Given the description of an element on the screen output the (x, y) to click on. 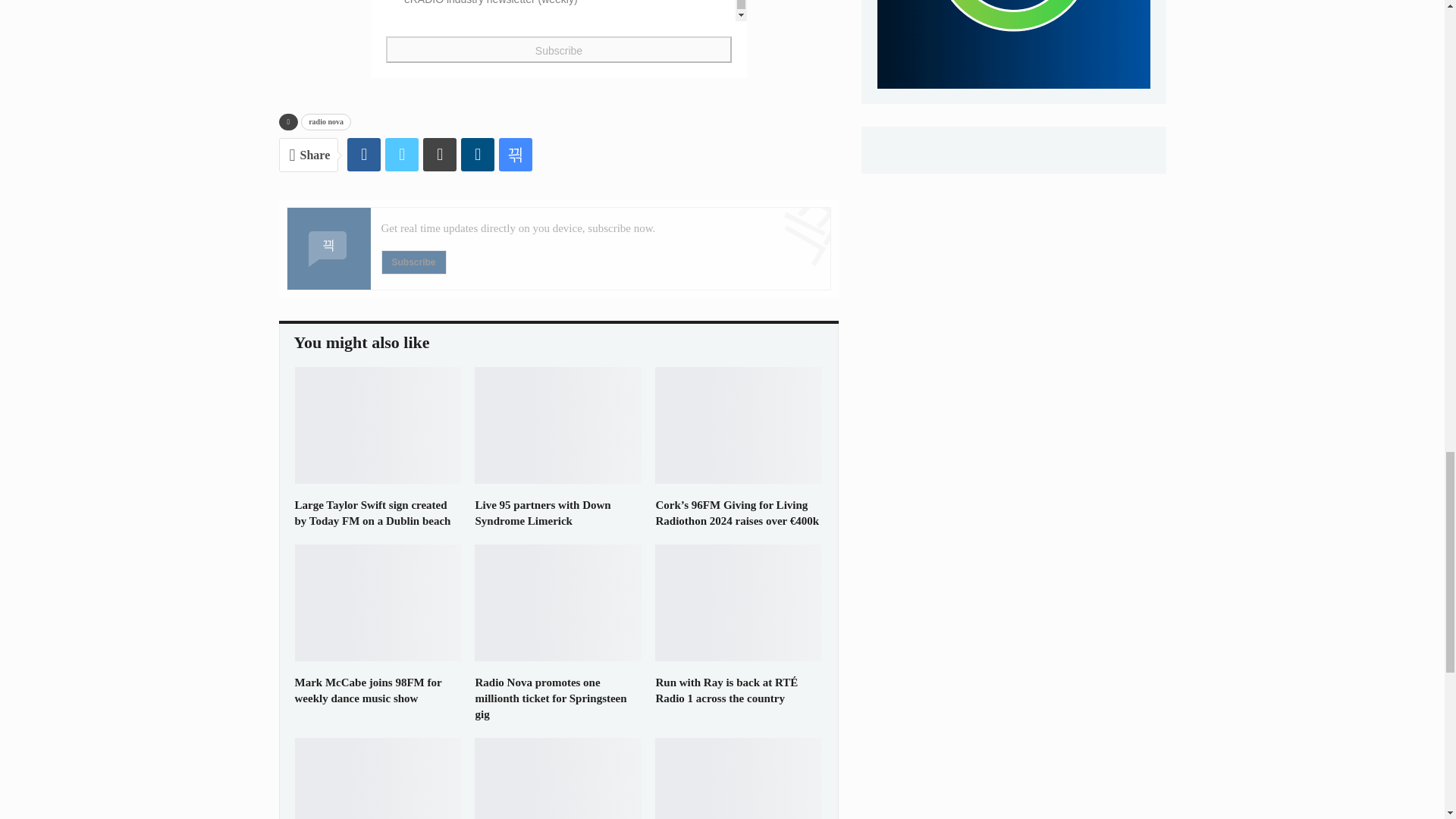
Mark McCabe joins 98FM for weekly dance music show (367, 690)
Live 95 partners with Down Syndrome Limerick (542, 512)
Mark McCabe joins 98FM for weekly dance music show (377, 602)
Subscribe (412, 262)
Radio Nova promotes one millionth ticket for Springsteen gig (550, 698)
Live 95 partners with Down Syndrome Limerick (558, 425)
Radio Nova promotes one millionth ticket for Springsteen gig (558, 602)
radio nova (325, 121)
